Given the description of an element on the screen output the (x, y) to click on. 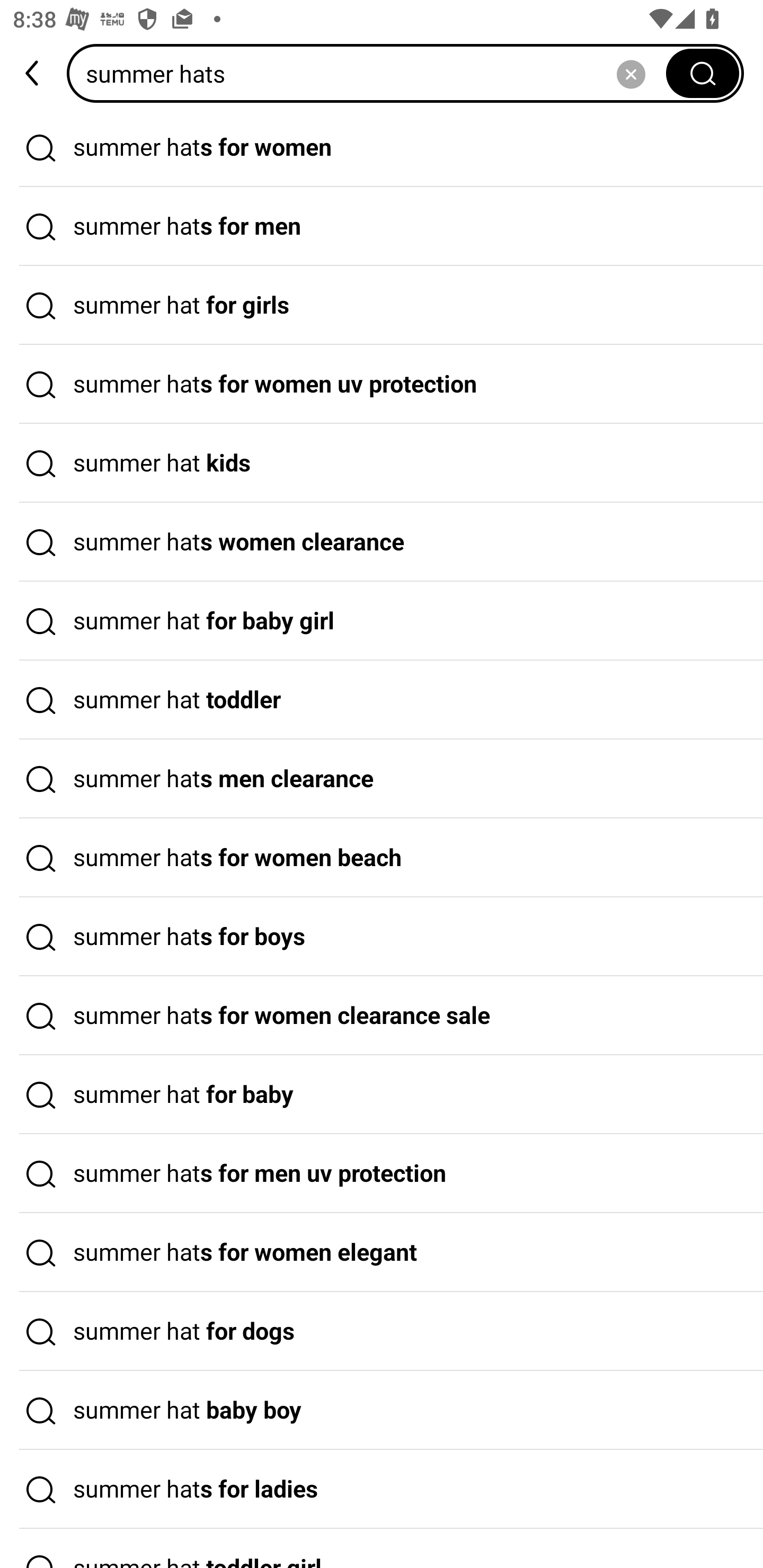
back (33, 72)
summer hats (372, 73)
Delete search history (630, 73)
summer hats for women (381, 147)
summer hats for men (381, 226)
summer hat for girls (381, 305)
summer hats for women uv protection (381, 383)
summer hat kids (381, 463)
summer hats women clearance (381, 542)
summer hat for baby girl (381, 620)
summer hat toddler (381, 700)
summer hats men clearance (381, 779)
summer hats for women beach (381, 857)
summer hats for boys (381, 936)
summer hats for women clearance sale (381, 1015)
summer hat for baby (381, 1094)
summer hats for men uv protection (381, 1173)
summer hats for women elegant (381, 1252)
summer hat for dogs (381, 1331)
summer hat baby boy (381, 1410)
summer hats for ladies (381, 1489)
